Given the description of an element on the screen output the (x, y) to click on. 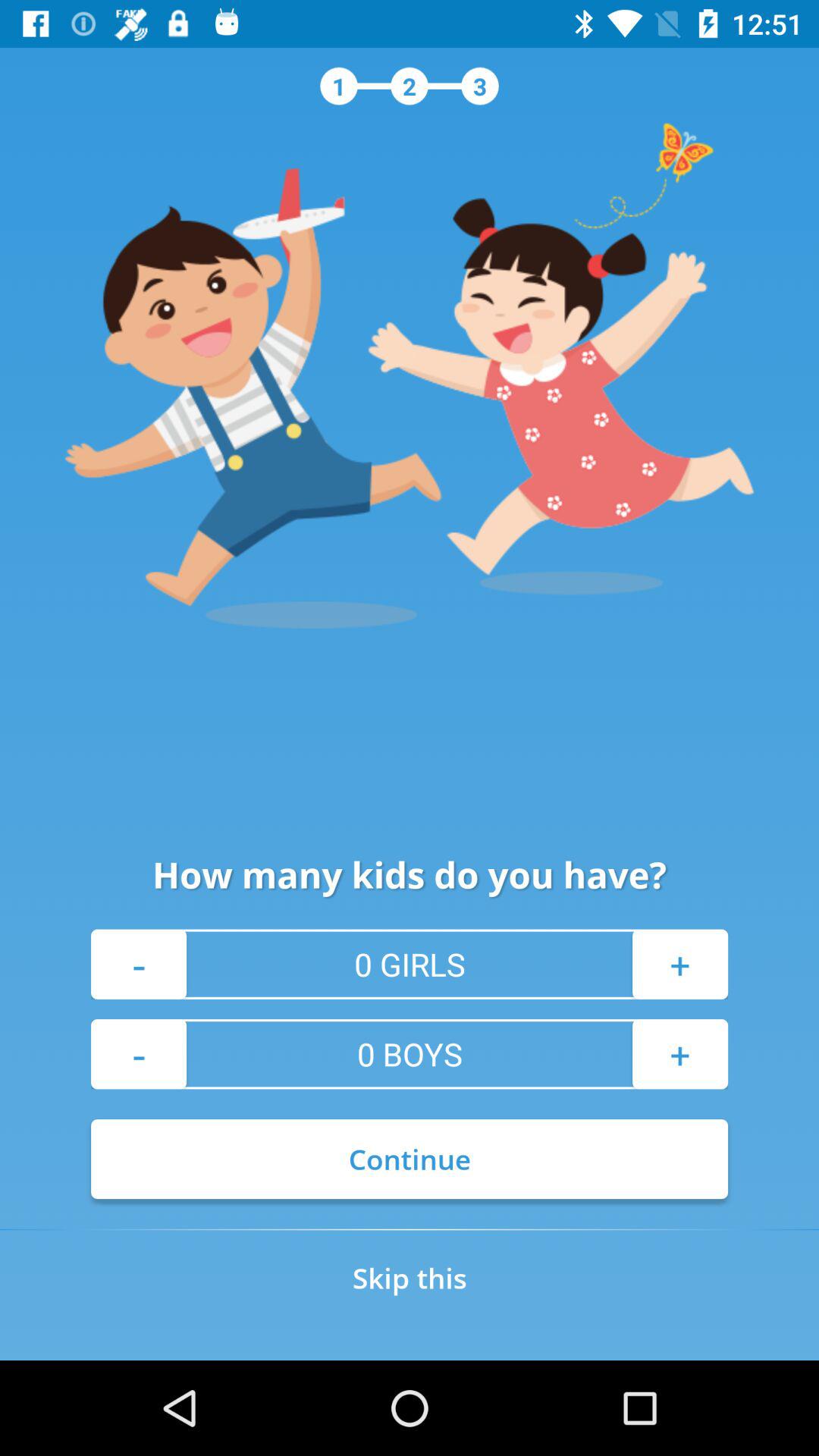
jump to the - item (138, 964)
